Given the description of an element on the screen output the (x, y) to click on. 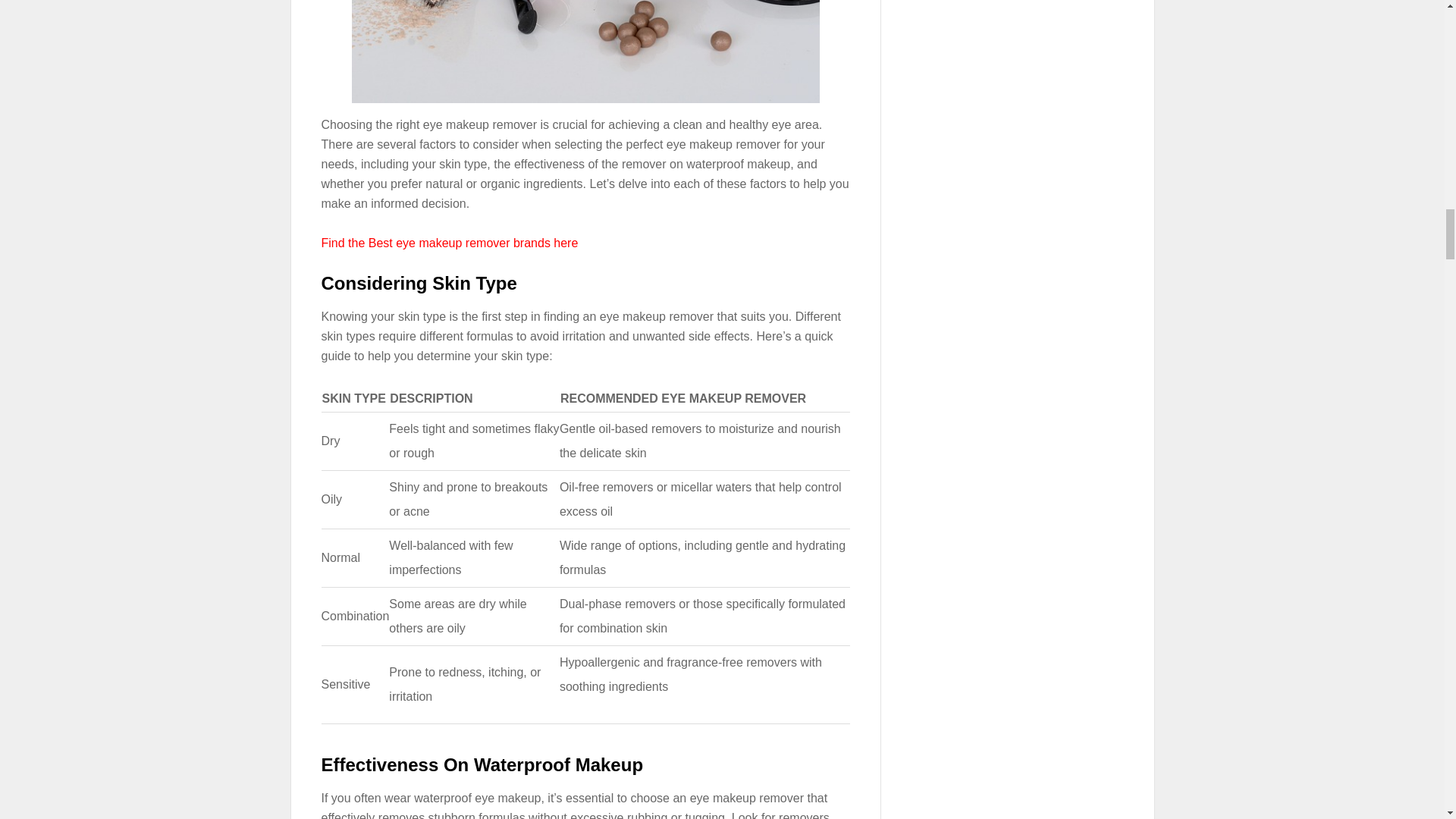
Find the Best eye makeup remover brands here (449, 242)
